Given the description of an element on the screen output the (x, y) to click on. 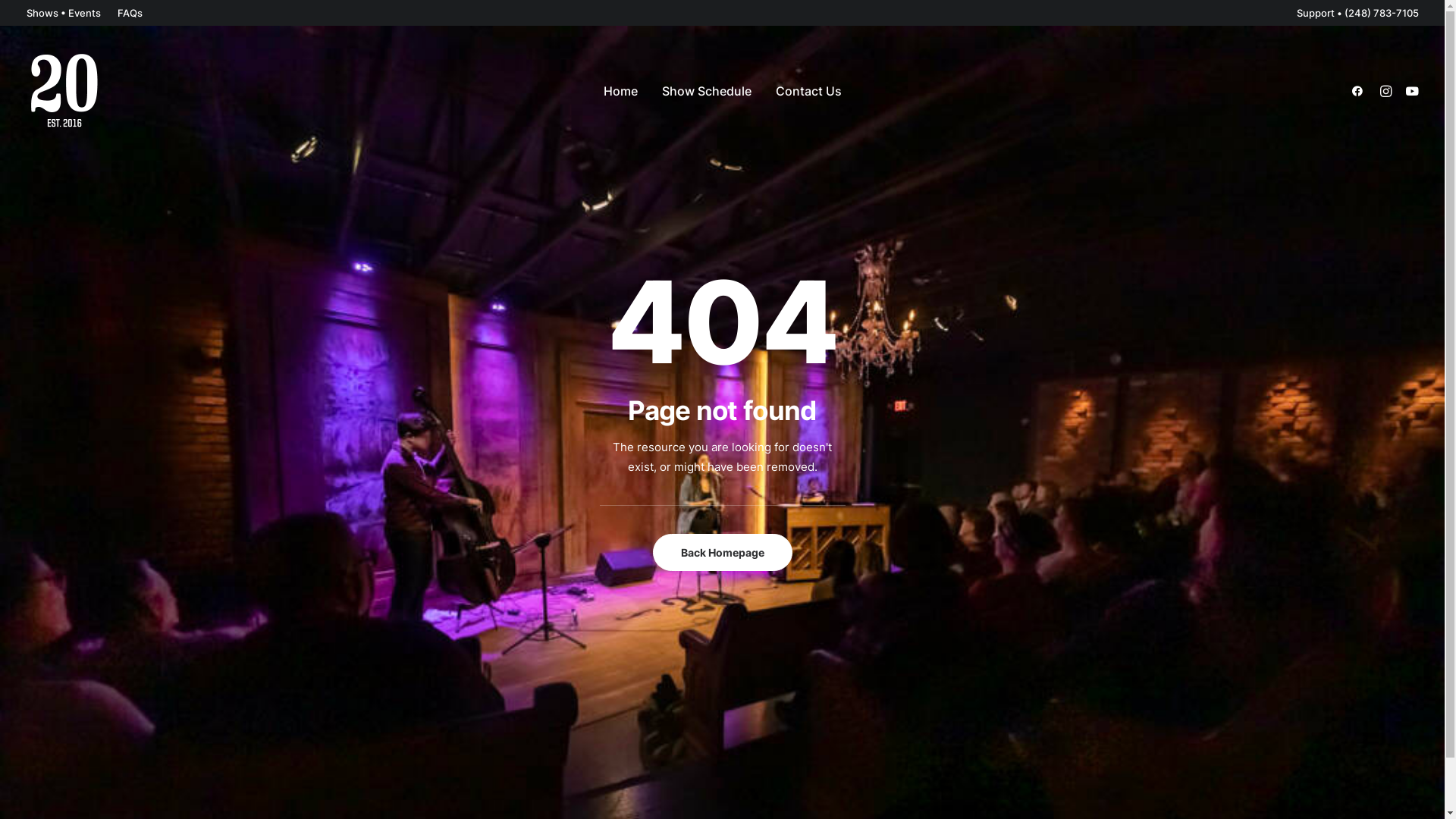
FAQs Element type: text (129, 12)
Show Schedule Element type: text (705, 90)
Contact Us Element type: text (807, 90)
Home Element type: text (620, 90)
Back Homepage Element type: text (721, 552)
